Given the description of an element on the screen output the (x, y) to click on. 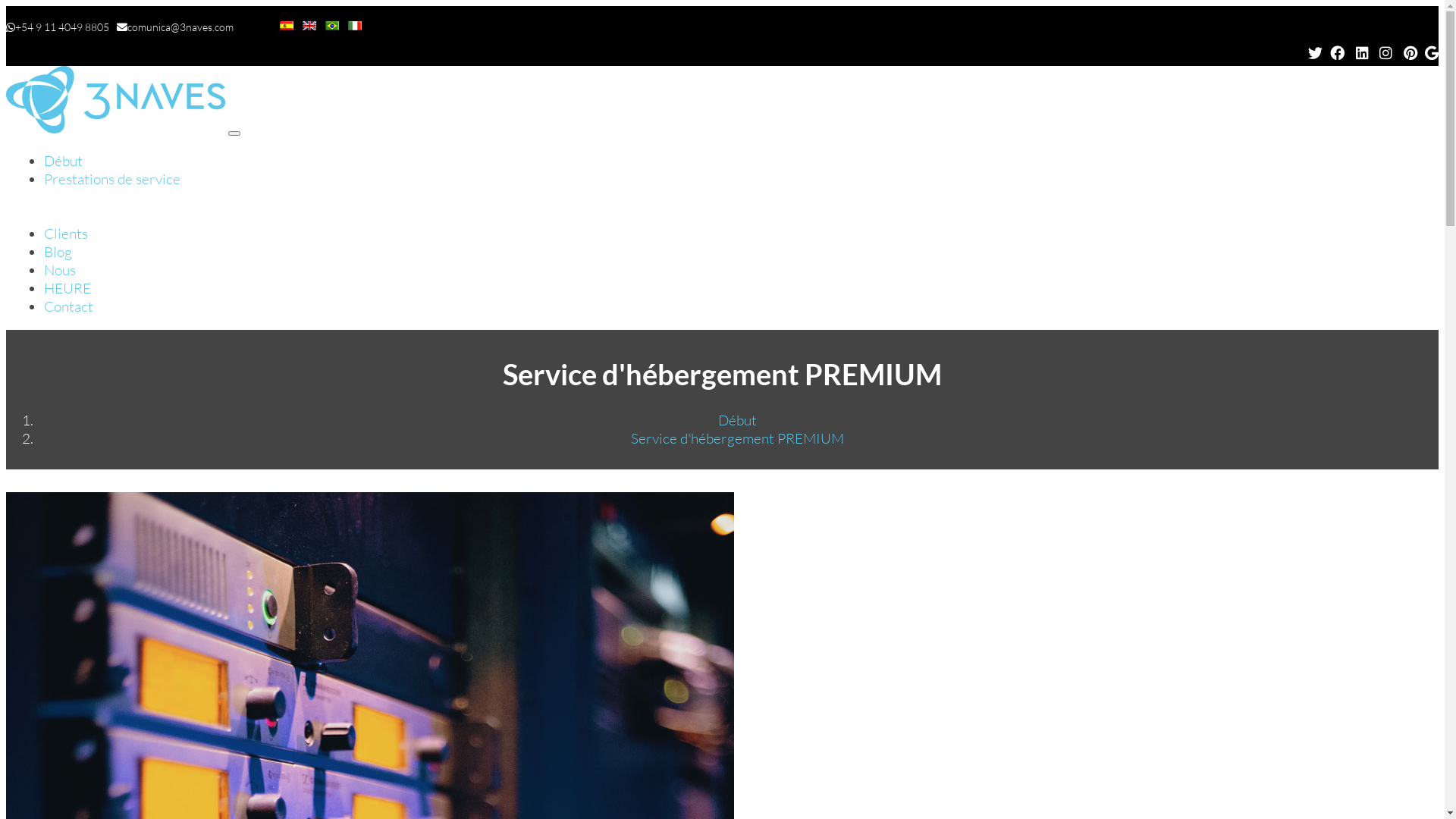
+54 9 11 4049 8805 Element type: text (62, 26)
  Element type: text (1387, 52)
HEURE Element type: text (67, 288)
  Element type: text (1363, 52)
  Element type: text (1339, 52)
Contact Element type: text (68, 306)
Nous Element type: text (59, 269)
Blog Element type: text (57, 251)
Prestations de service Element type: text (111, 178)
Clients Element type: text (65, 233)
comunica@3naves.com Element type: text (180, 26)
